Given the description of an element on the screen output the (x, y) to click on. 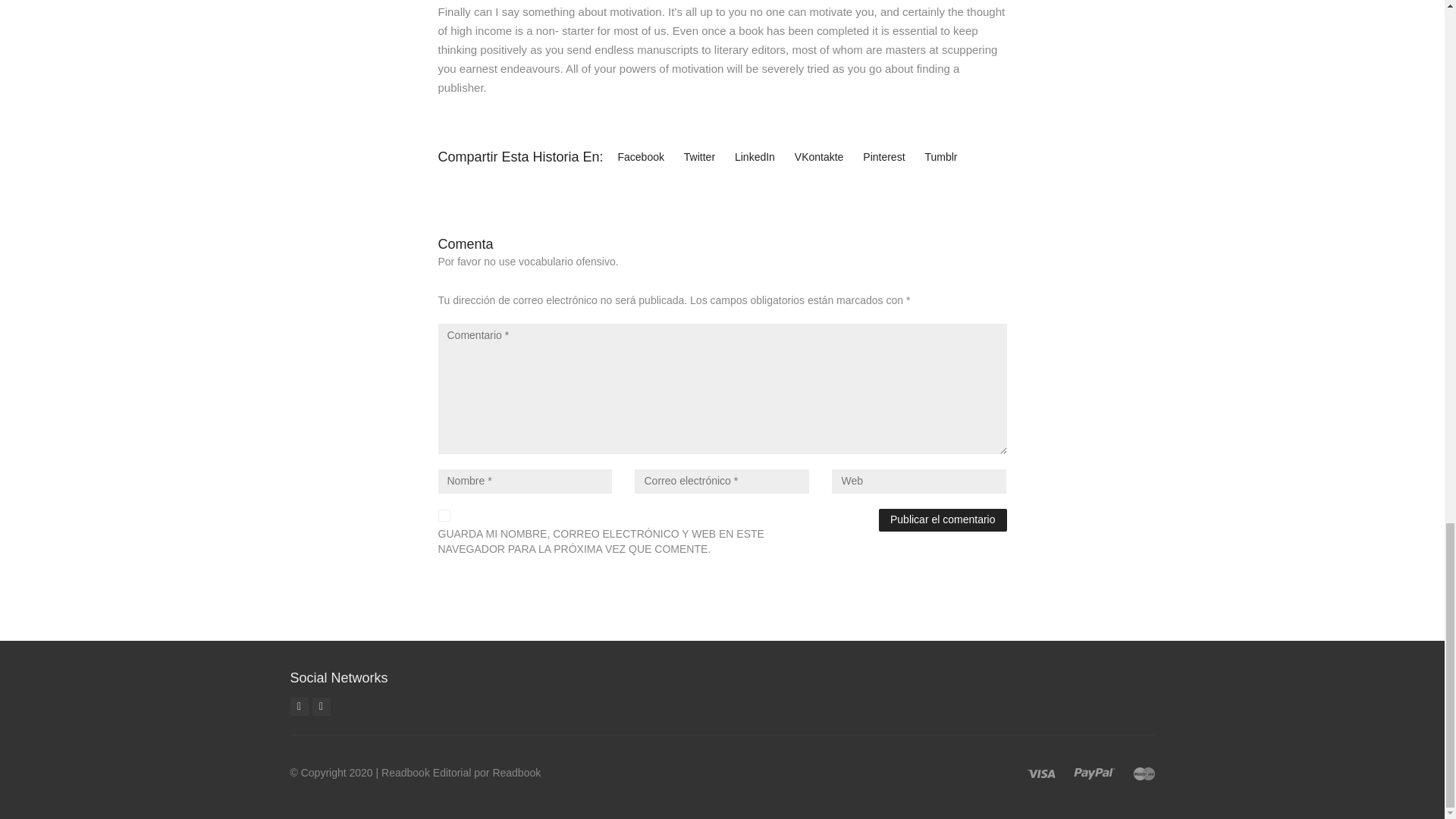
Facebook (298, 706)
yes (443, 515)
Publicar el comentario (943, 519)
Twitter (321, 706)
